Given the description of an element on the screen output the (x, y) to click on. 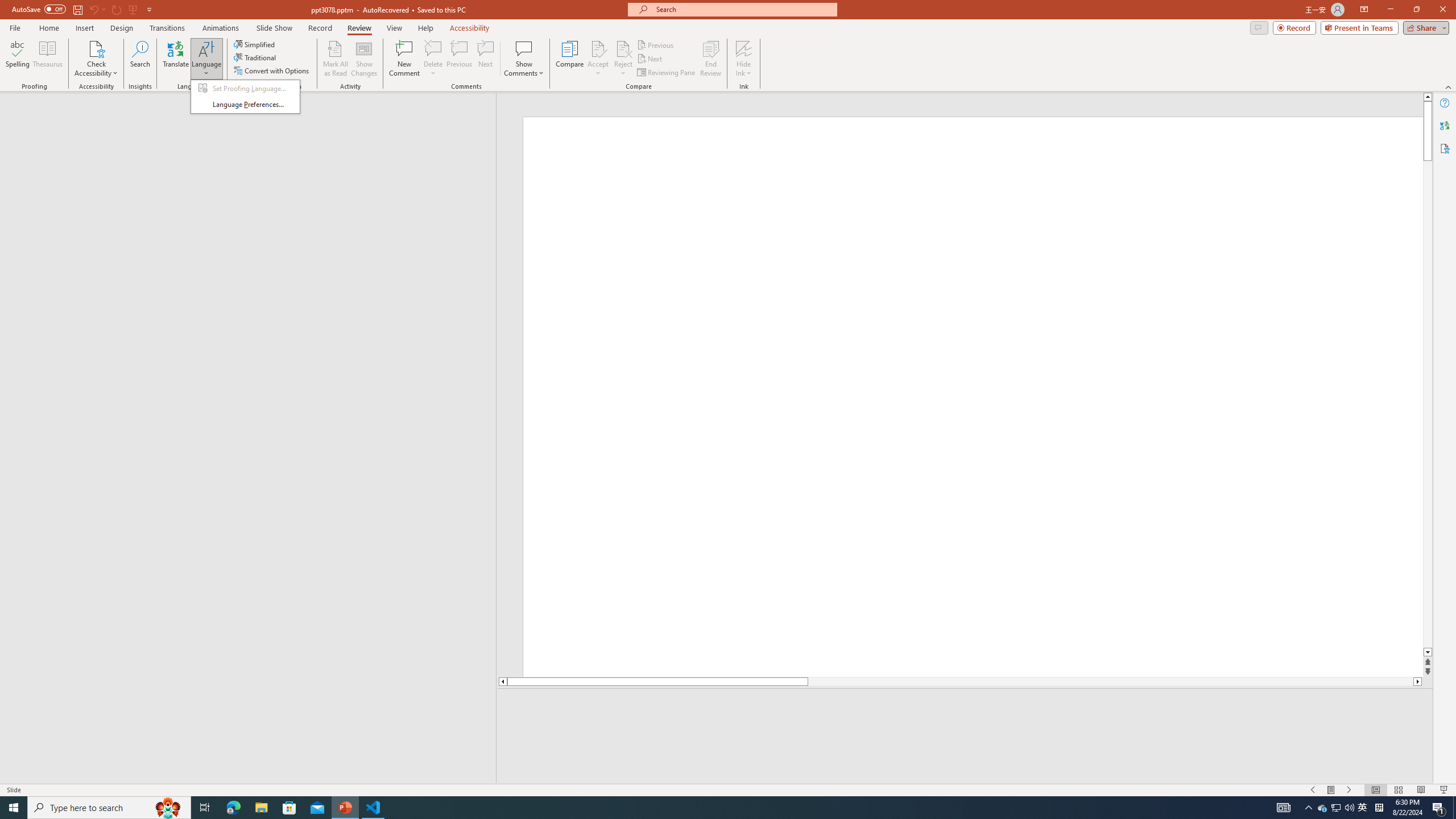
Slide Show Next On (1349, 790)
